Given the description of an element on the screen output the (x, y) to click on. 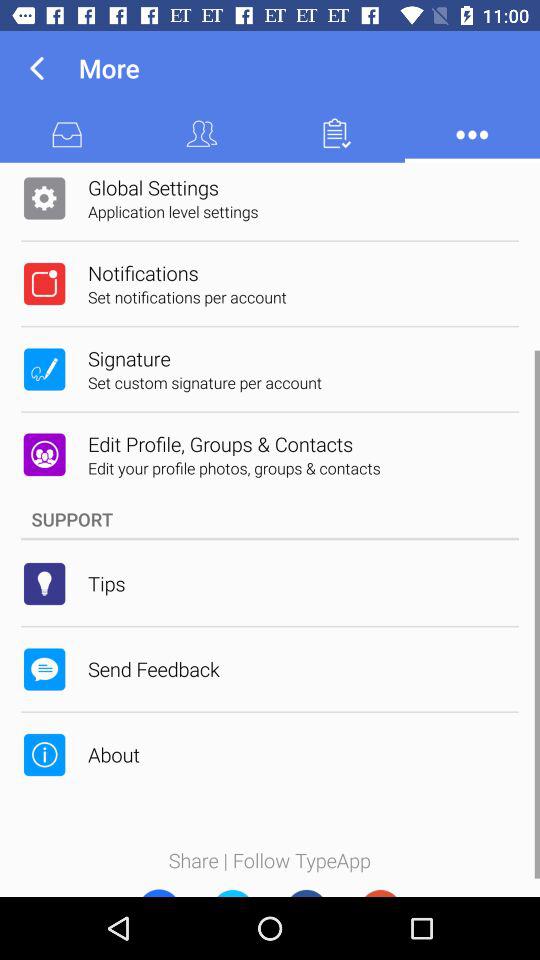
jump to global settings icon (153, 187)
